Given the description of an element on the screen output the (x, y) to click on. 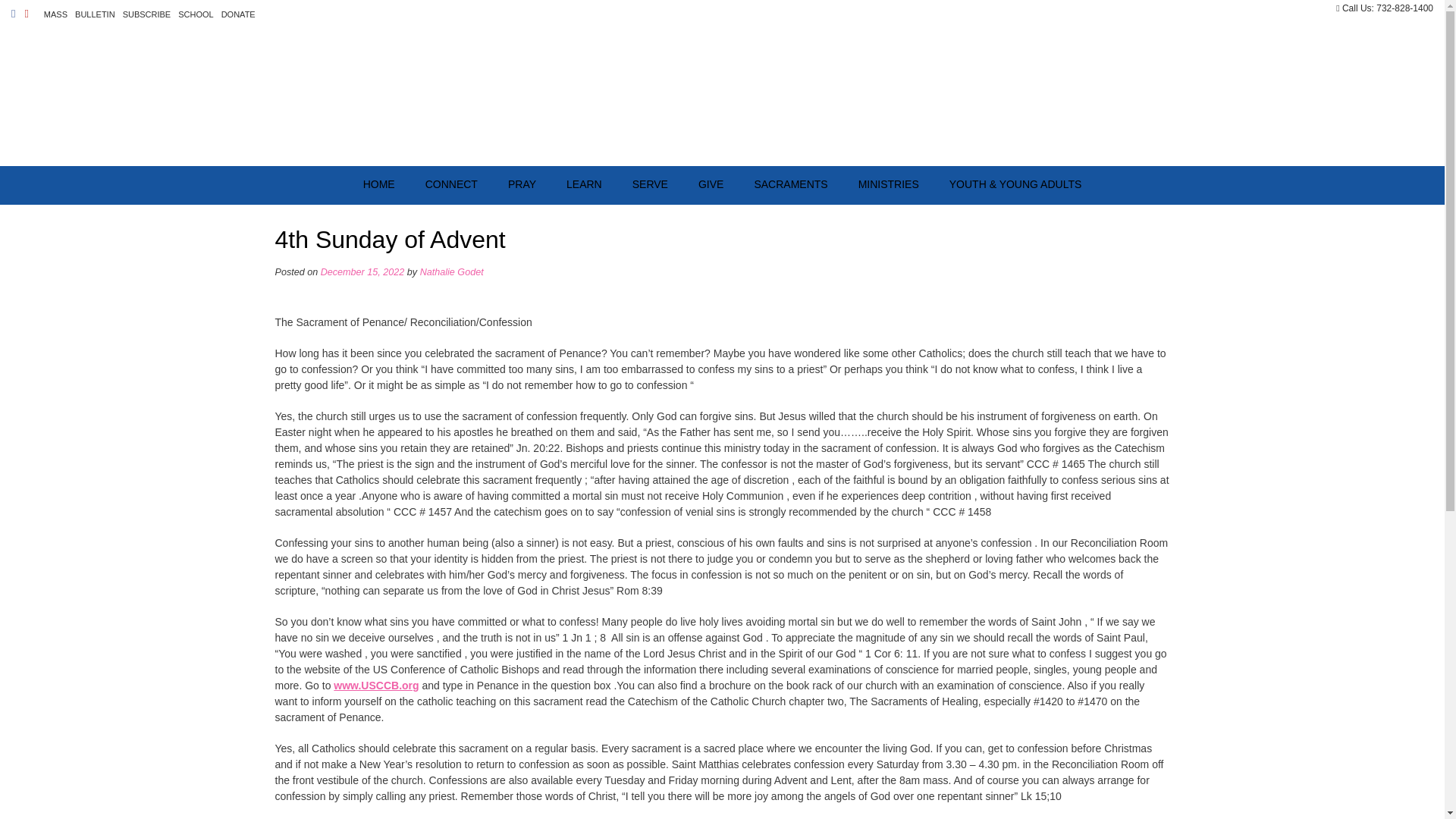
MASS (54, 14)
LEARN (584, 185)
PRAY (522, 185)
GIVE (710, 185)
SCHOOL (194, 14)
SERVE (649, 185)
HOME (378, 185)
SUBSCRIBE (146, 14)
The Catholic Community of St. Matthias (722, 96)
DONATE (238, 14)
BULLETIN (94, 14)
CONNECT (451, 185)
MINISTRIES (888, 185)
SACRAMENTS (790, 185)
